Given the description of an element on the screen output the (x, y) to click on. 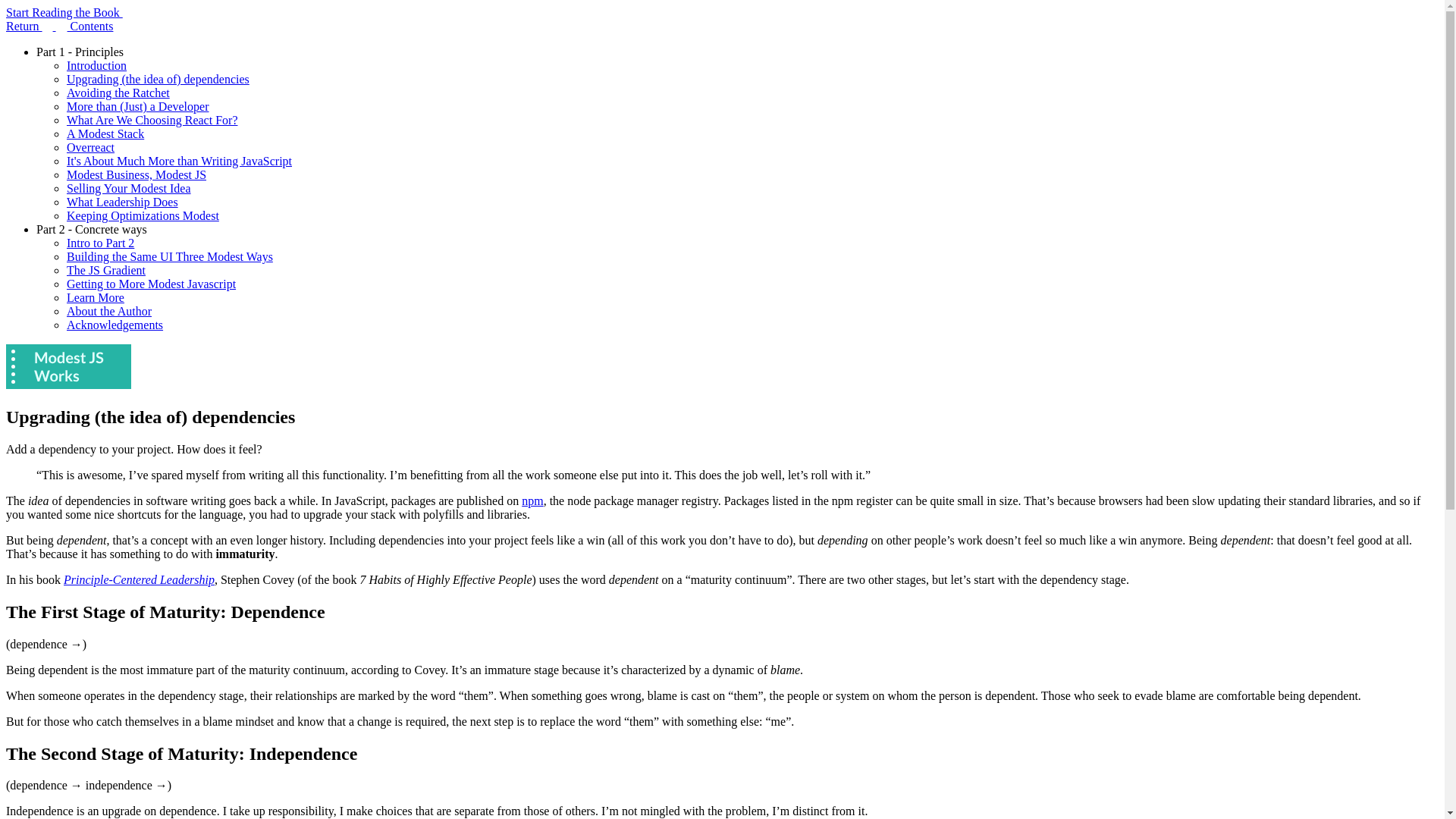
Contents (84, 25)
What Are We Choosing React For? (151, 119)
Principle-Centered Leadership (139, 579)
Introduction (96, 65)
The JS Gradient (105, 269)
It's About Much More than Writing JavaScript (179, 160)
What Leadership Does (121, 201)
Return (30, 25)
Selling Your Modest Idea (128, 187)
Modest Business, Modest JS (136, 174)
